Given the description of an element on the screen output the (x, y) to click on. 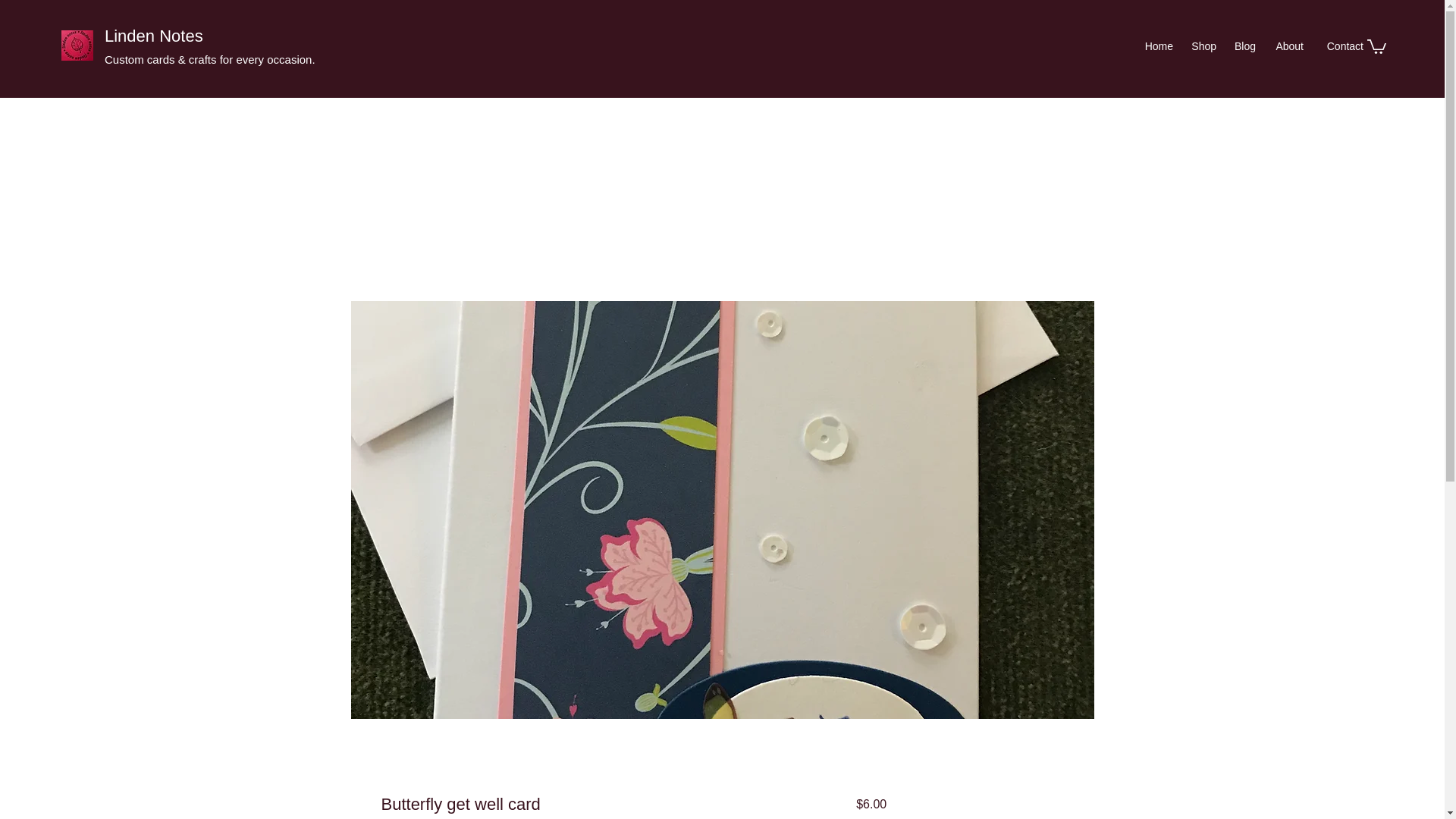
About (1287, 46)
Blog (1243, 46)
Home (1156, 46)
Shop (1202, 46)
Contact (1341, 46)
Linden Notes (153, 35)
